Given the description of an element on the screen output the (x, y) to click on. 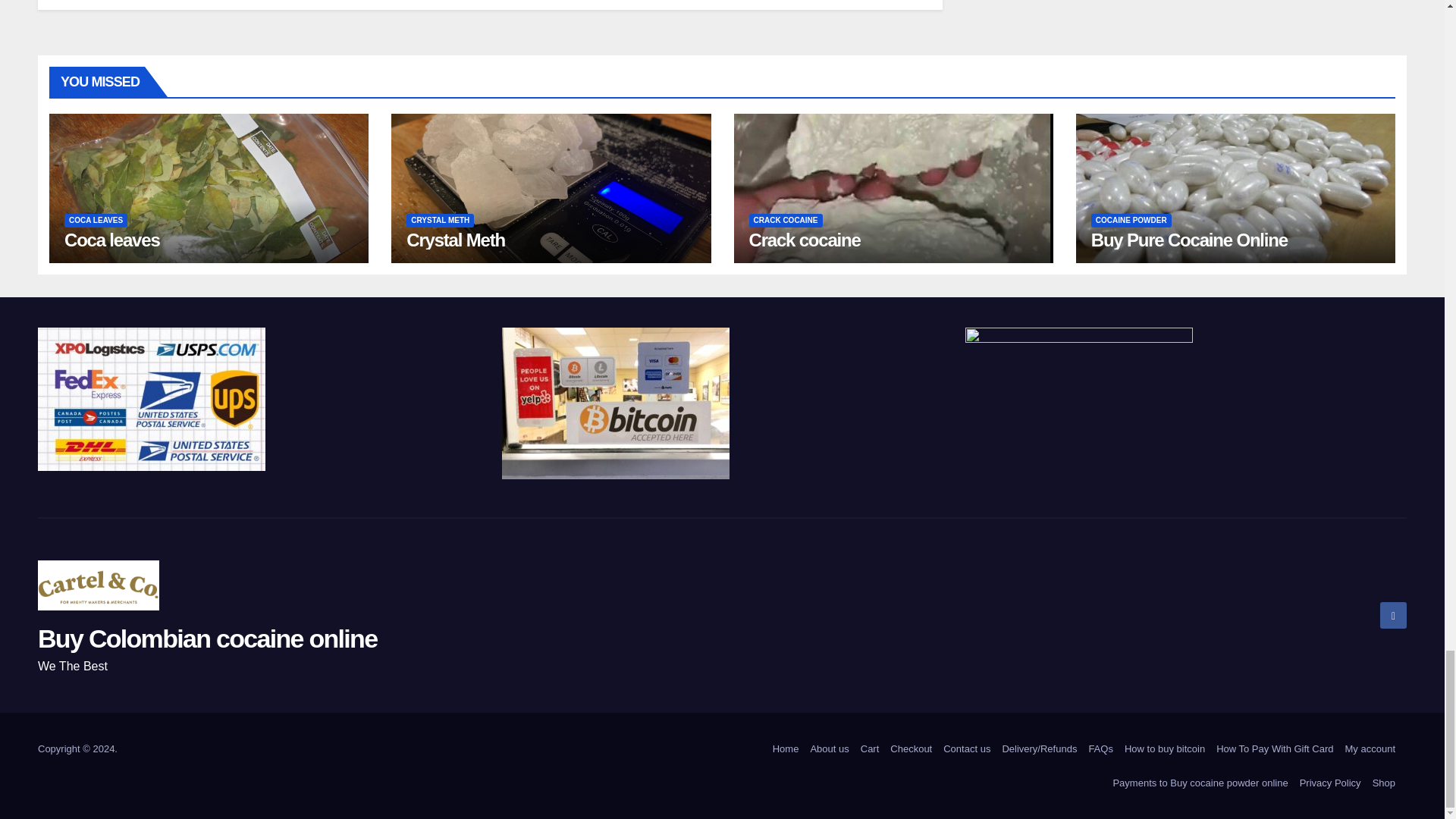
Home (786, 748)
Permalink to: Crack cocaine (804, 240)
Permalink to: Crystal Meth (455, 240)
Permalink to: Buy Pure Cocaine Online (1188, 240)
Permalink to: Coca leaves (112, 240)
